Given the description of an element on the screen output the (x, y) to click on. 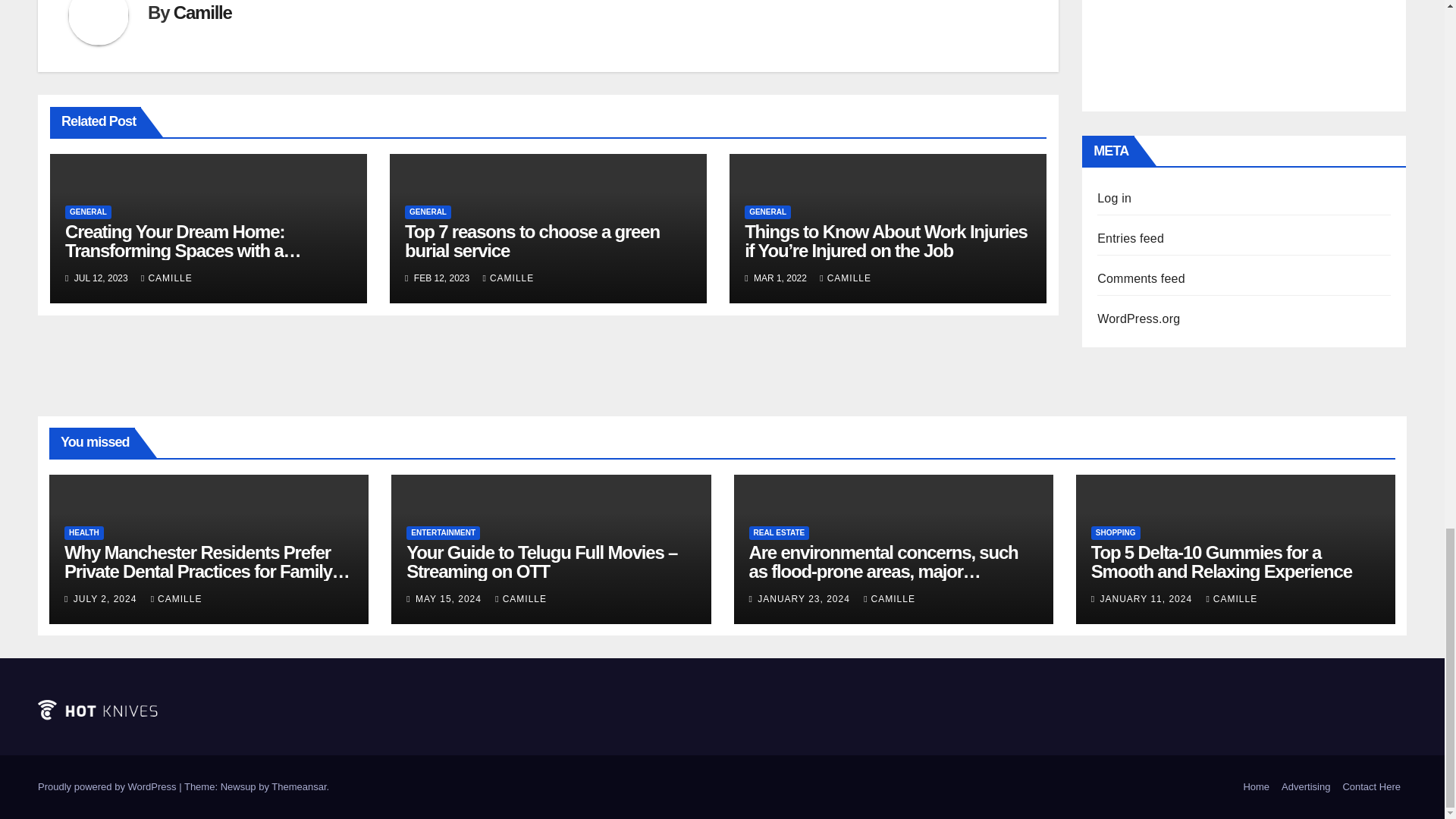
CAMILLE (508, 277)
GENERAL (427, 212)
Top 7 reasons to choose a green burial service (531, 241)
Camille (202, 12)
CAMILLE (166, 277)
Permalink to: Top 7 reasons to choose a green burial service (531, 241)
GENERAL (88, 212)
